Given the description of an element on the screen output the (x, y) to click on. 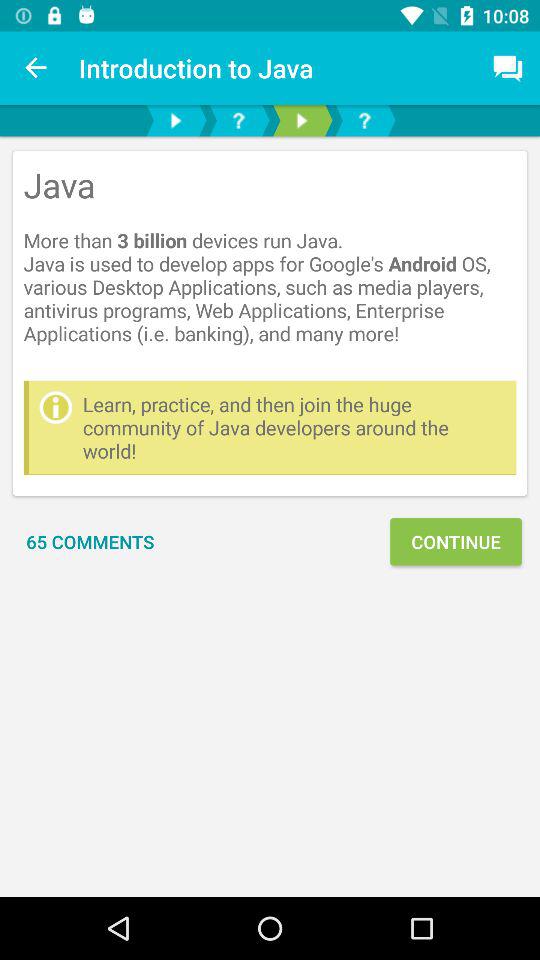
open the icon next to continue item (90, 541)
